Given the description of an element on the screen output the (x, y) to click on. 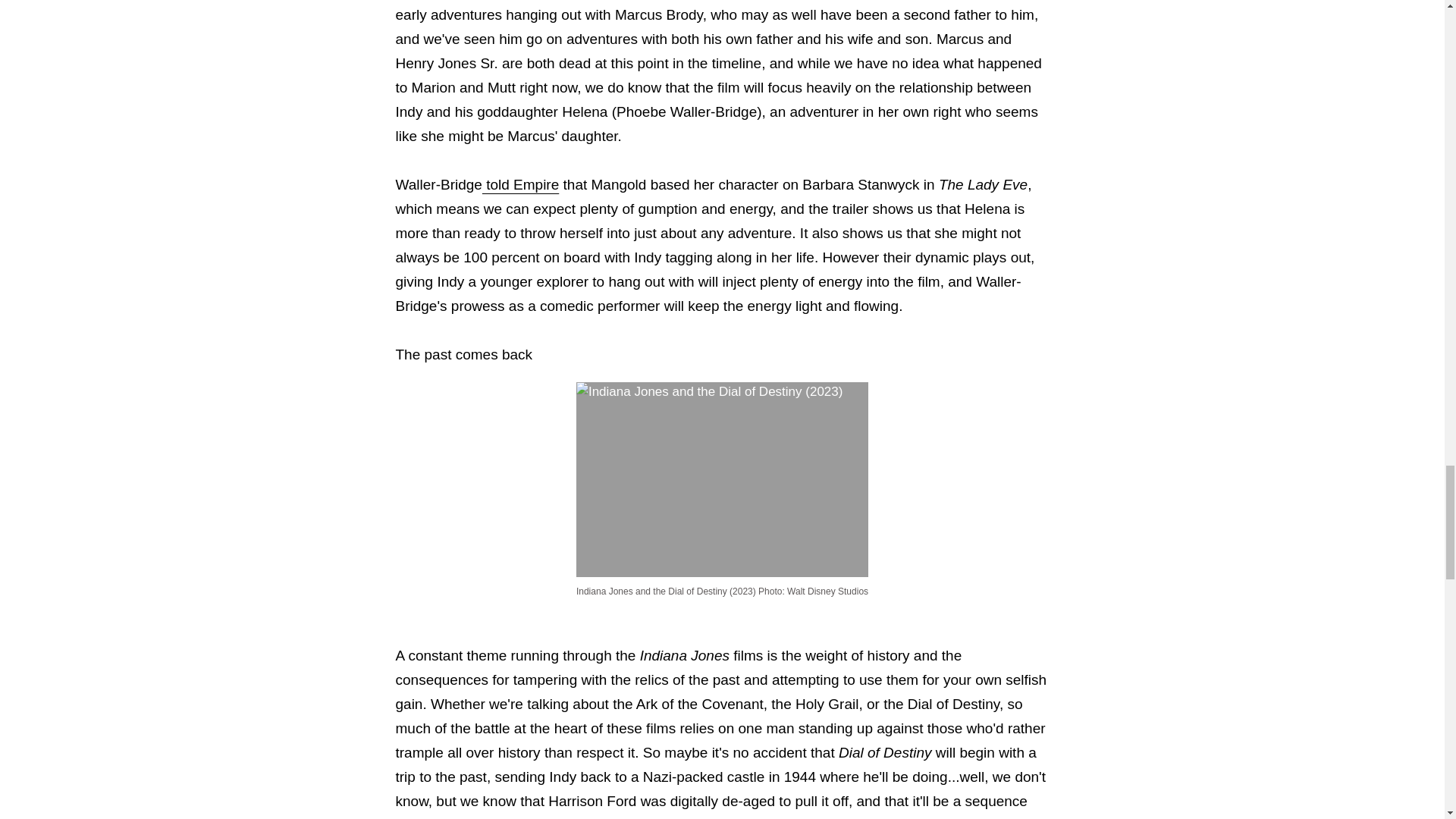
told Empire (520, 184)
